Given the description of an element on the screen output the (x, y) to click on. 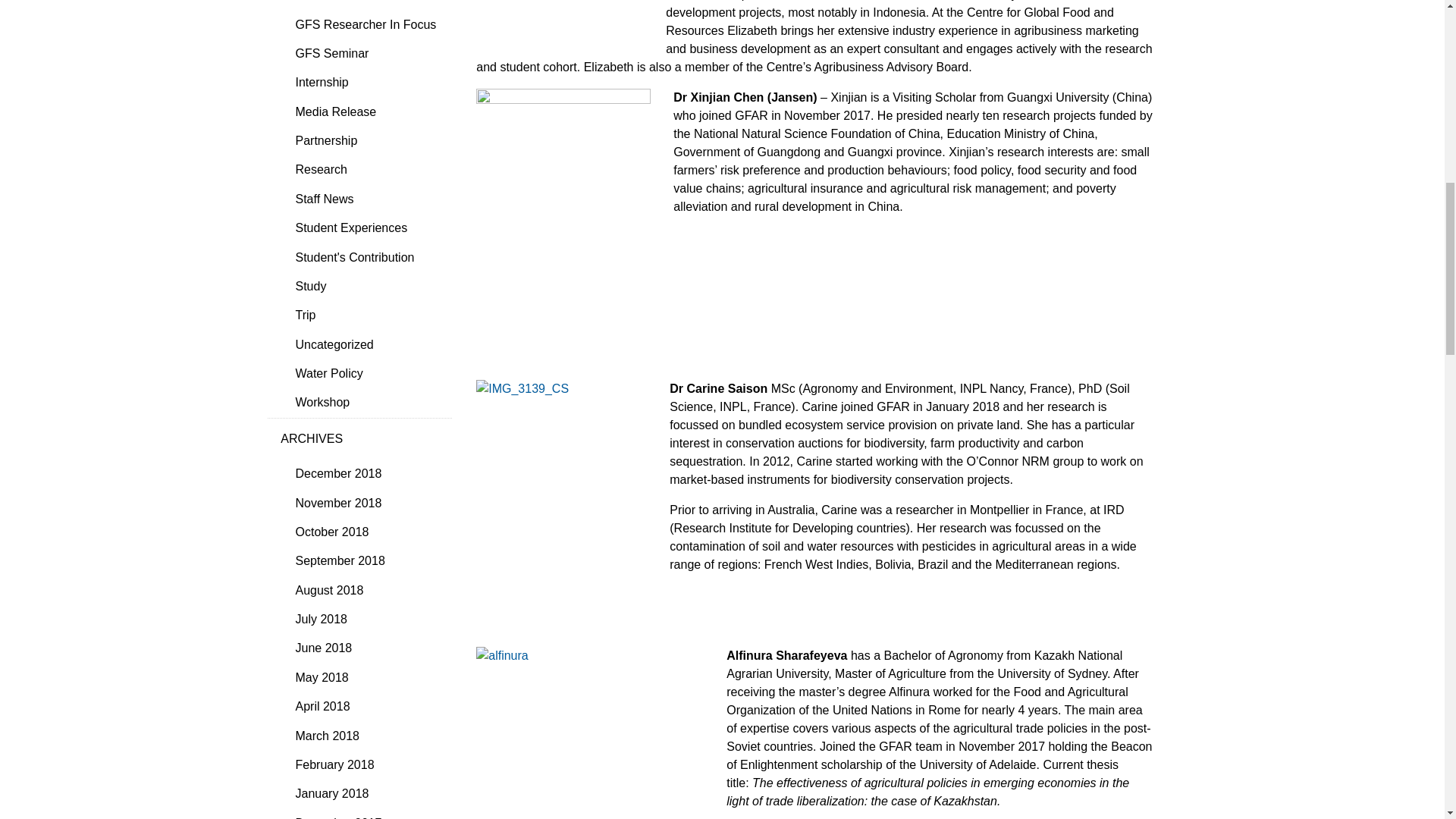
Student Experiences (365, 227)
Uncategorized (365, 344)
Staff News (365, 199)
Internship (365, 82)
Trip (365, 315)
Research (365, 169)
Study (365, 286)
GFS Researcher In Focus (365, 23)
Media Release (365, 111)
Student'S Contribution (365, 256)
Partnership (365, 140)
GFAR Seminar (365, 4)
GFS Seminar (365, 53)
